Given the description of an element on the screen output the (x, y) to click on. 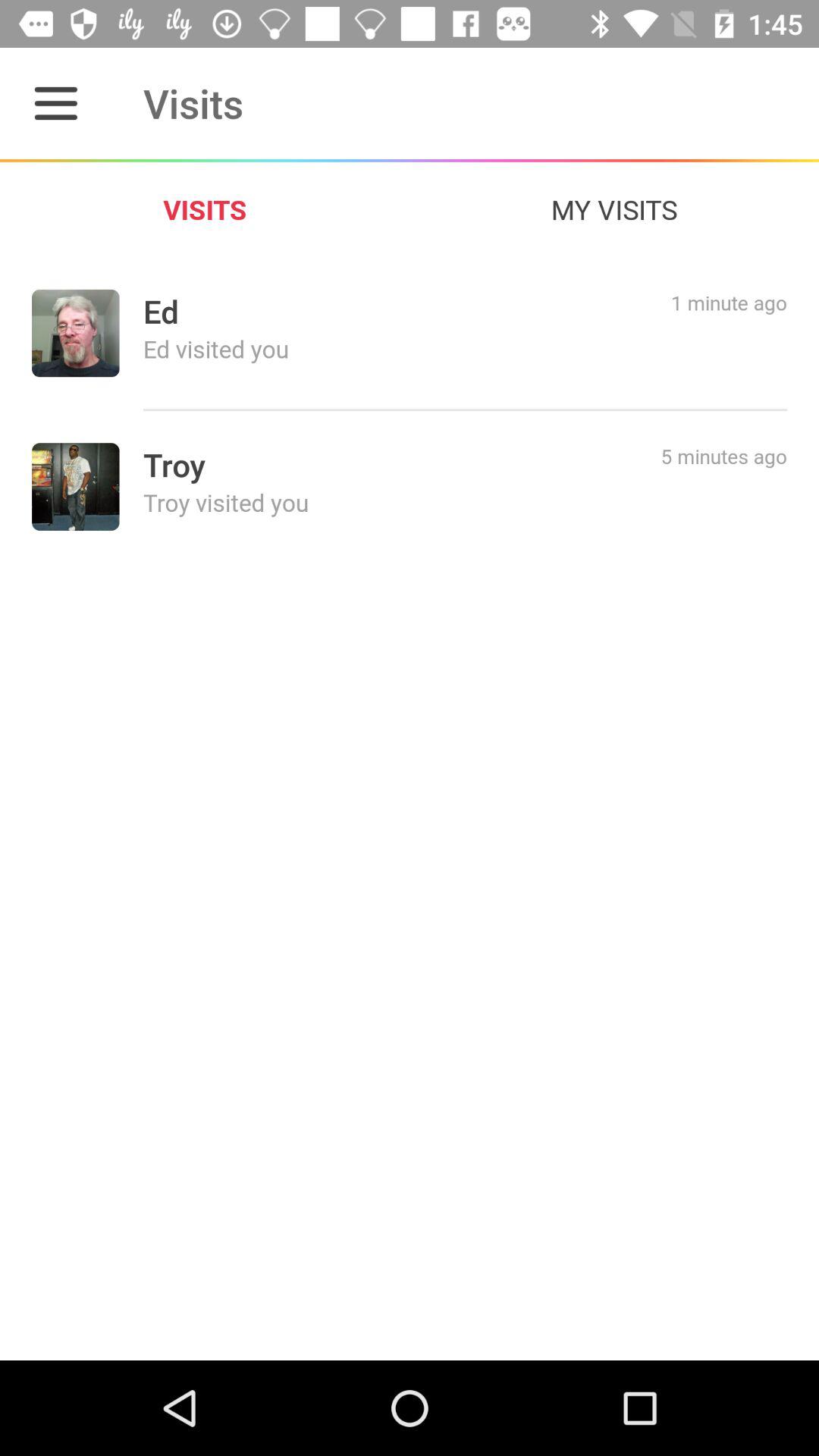
swipe to the my visits item (614, 209)
